Given the description of an element on the screen output the (x, y) to click on. 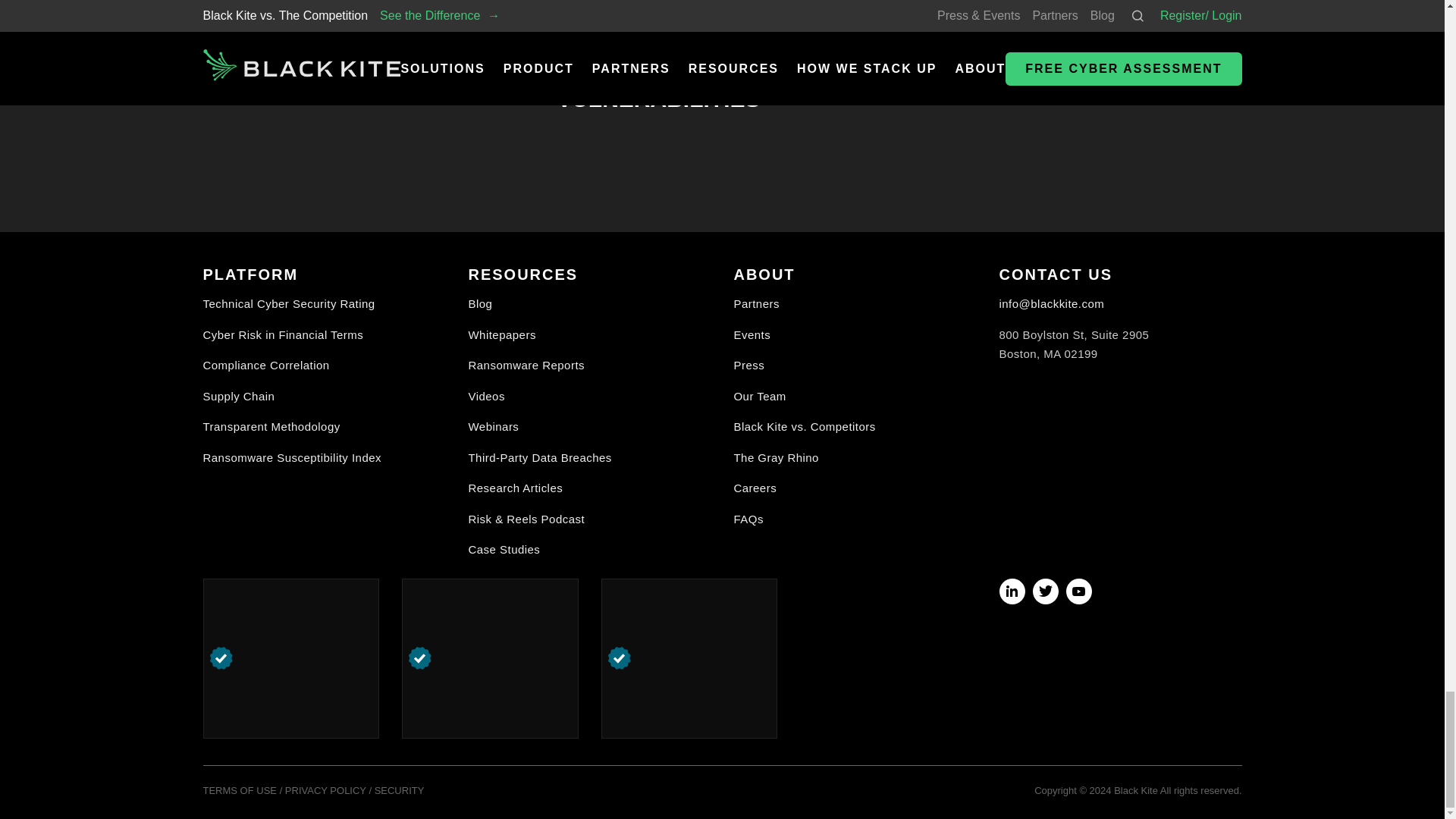
CrowdStrike Outage: Lessons on Fragility and Resilience (1075, 7)
